Given the description of an element on the screen output the (x, y) to click on. 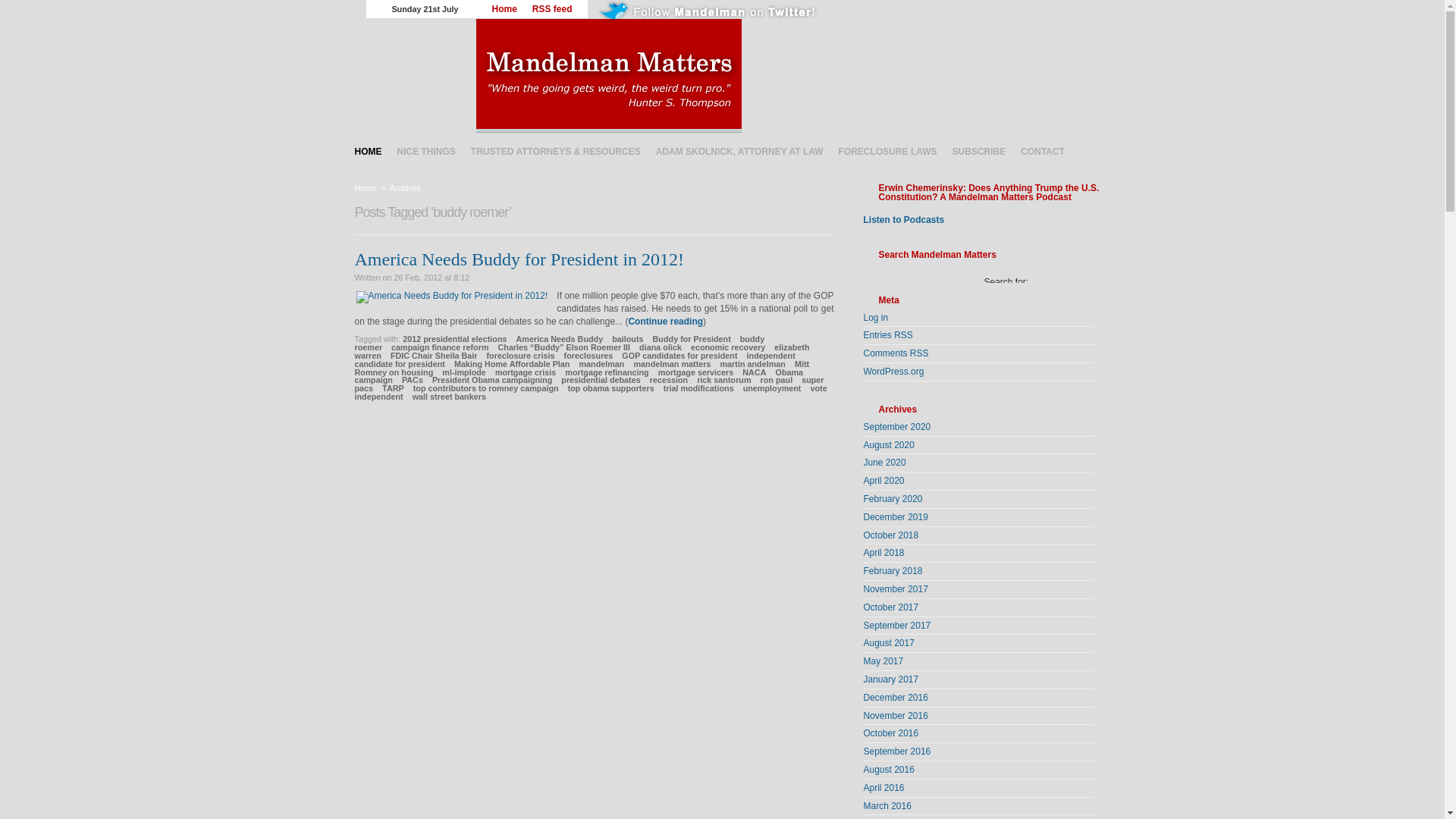
bailouts (627, 338)
martin andelman (751, 363)
mortgage servicers (695, 371)
CONTACT (1042, 151)
Buddy for President (691, 338)
Home (504, 9)
America Needs Buddy (560, 338)
campaign finance reform (439, 347)
elizabeth warren (582, 351)
Mandelman Matters (781, 75)
America Needs Buddy for President in 2012! (519, 259)
HOME (368, 151)
mandelman (601, 363)
Making Home Affordable Plan (512, 363)
ADAM SKOLNICK, ATTORNEY AT LAW (739, 151)
